Given the description of an element on the screen output the (x, y) to click on. 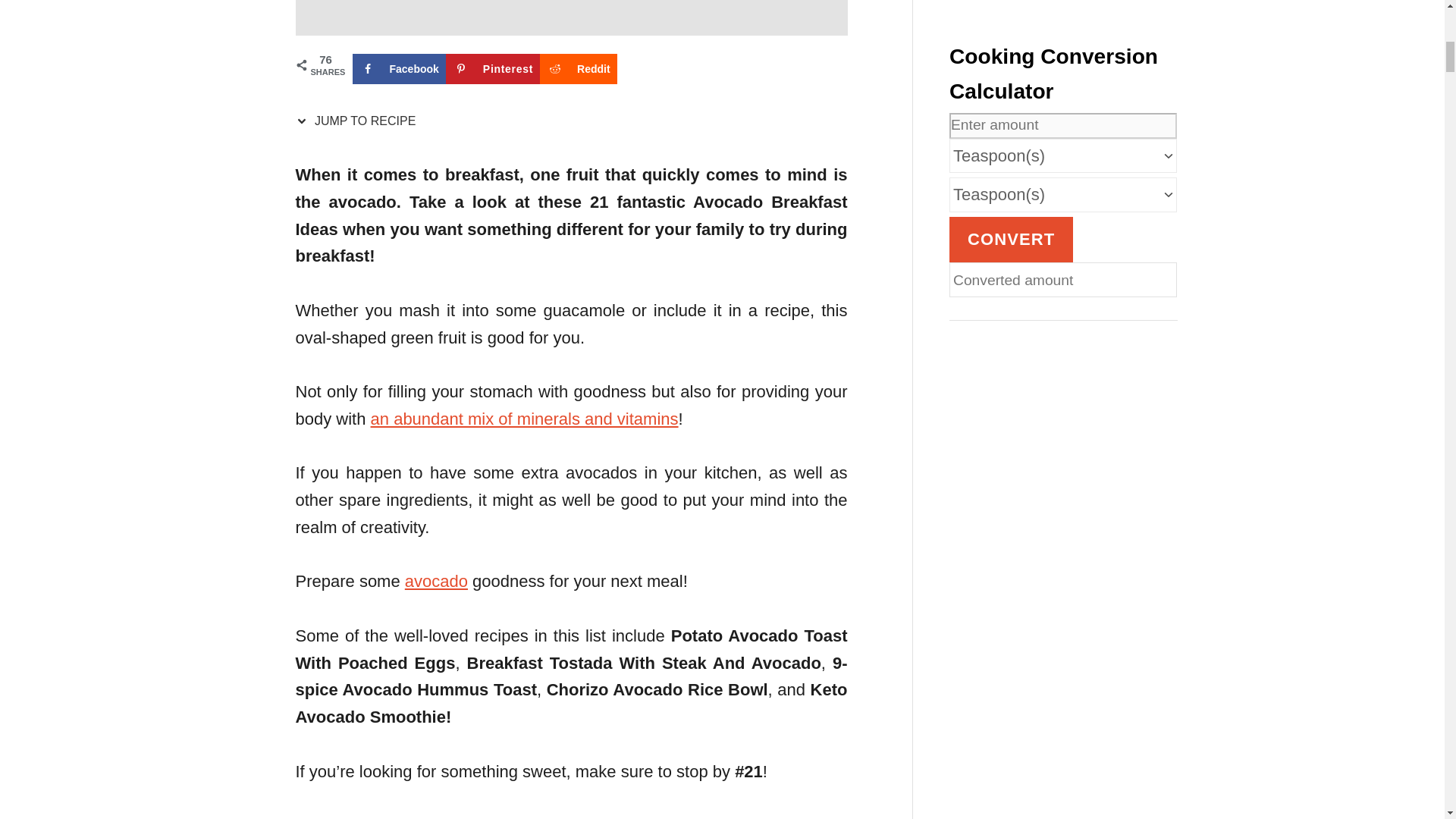
Save to Pinterest (492, 69)
Share on Facebook (398, 69)
Share on Reddit (578, 69)
